Given the description of an element on the screen output the (x, y) to click on. 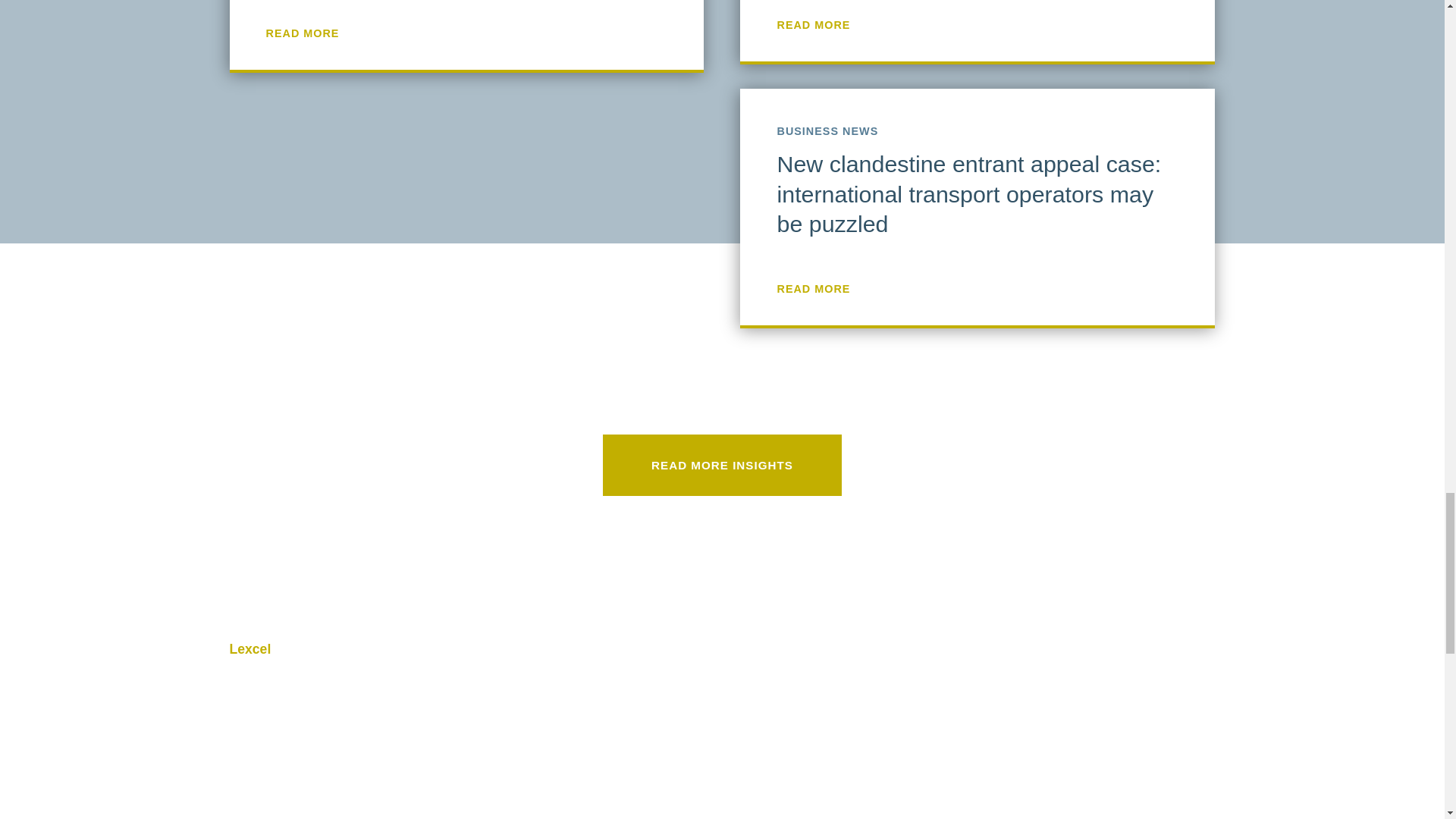
Lexcel (721, 649)
